Given the description of an element on the screen output the (x, y) to click on. 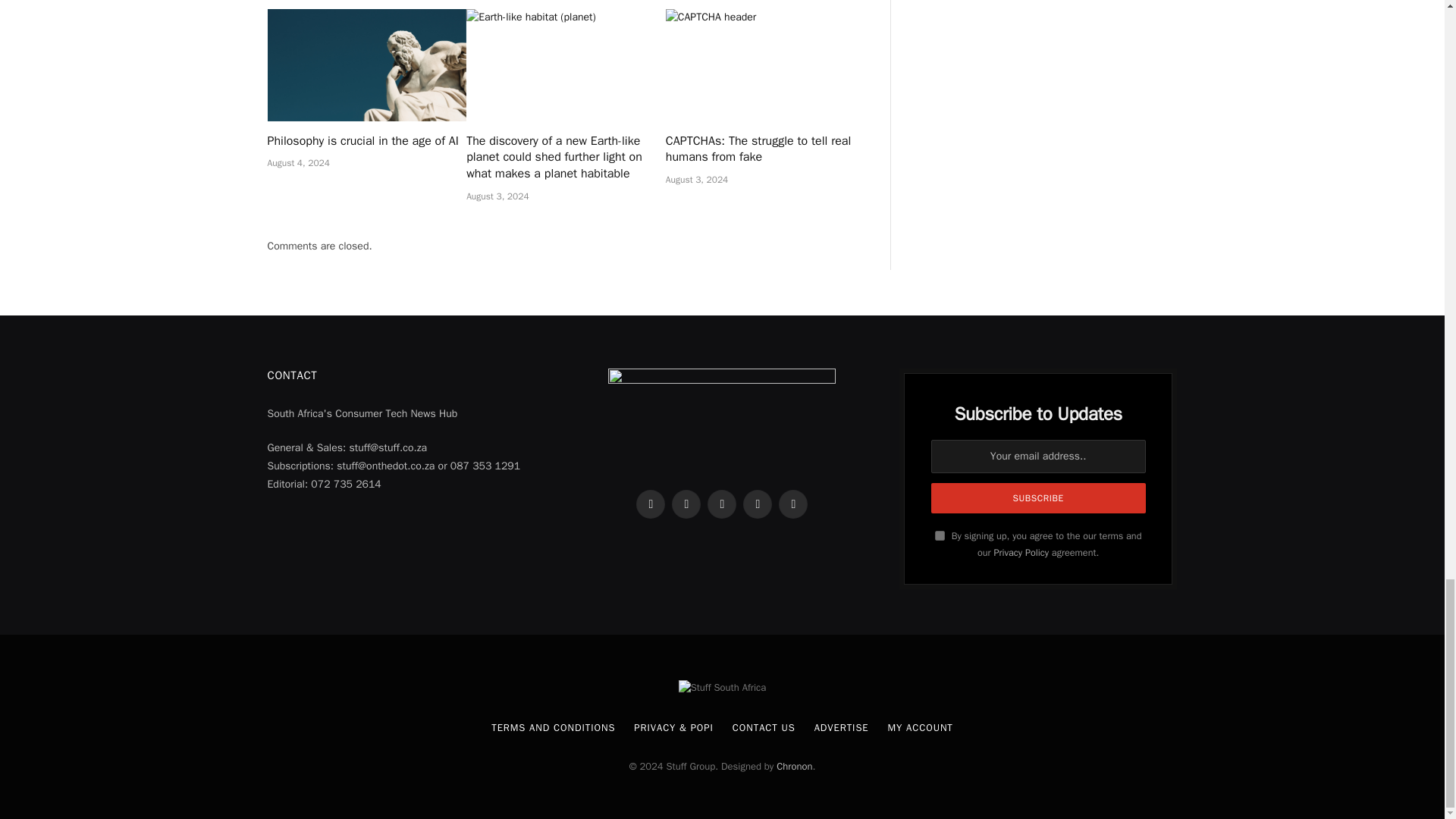
Subscribe (1038, 498)
on (939, 535)
